Given the description of an element on the screen output the (x, y) to click on. 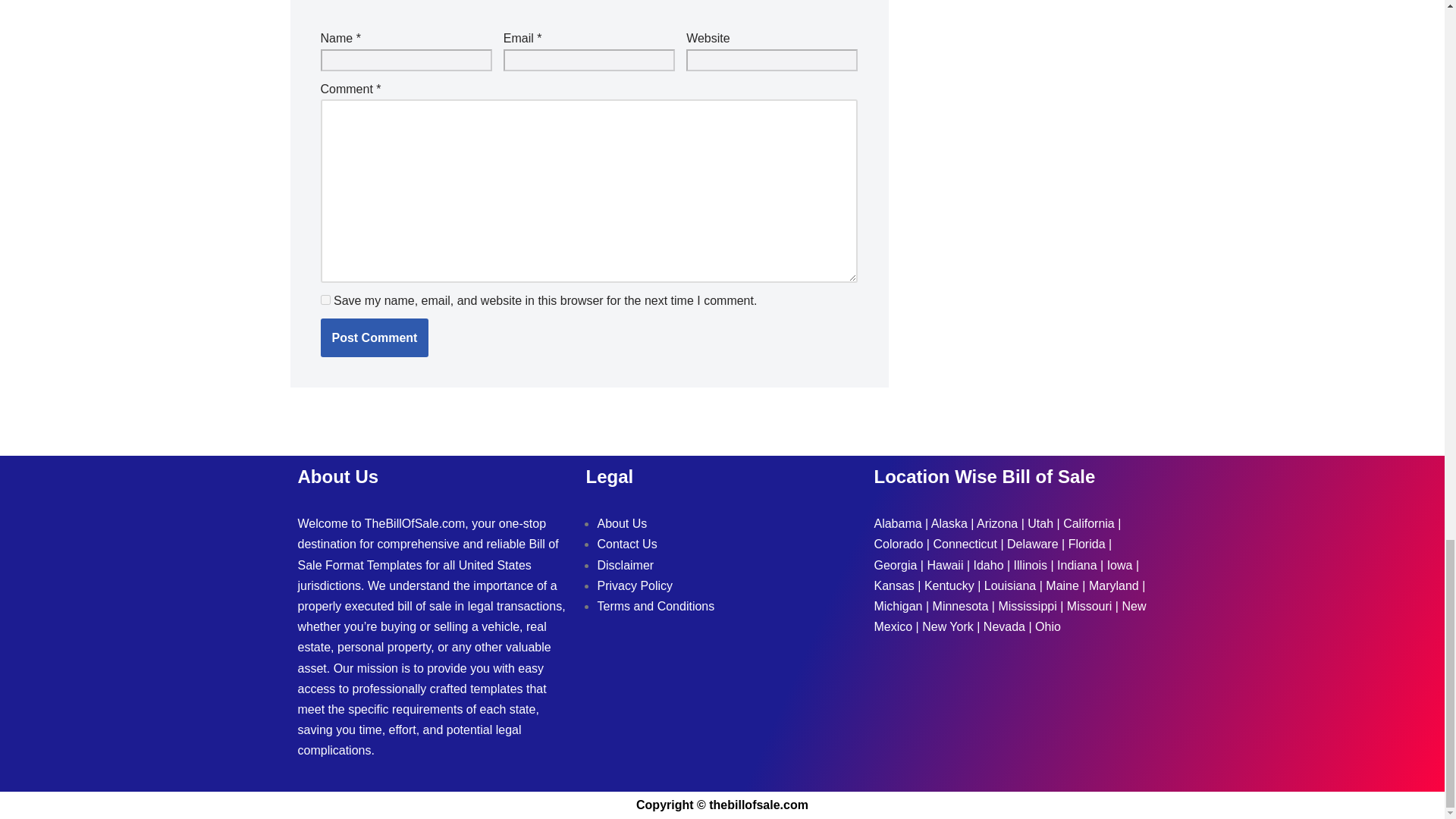
Post Comment (374, 337)
Post Comment (374, 337)
yes (325, 299)
